Given the description of an element on the screen output the (x, y) to click on. 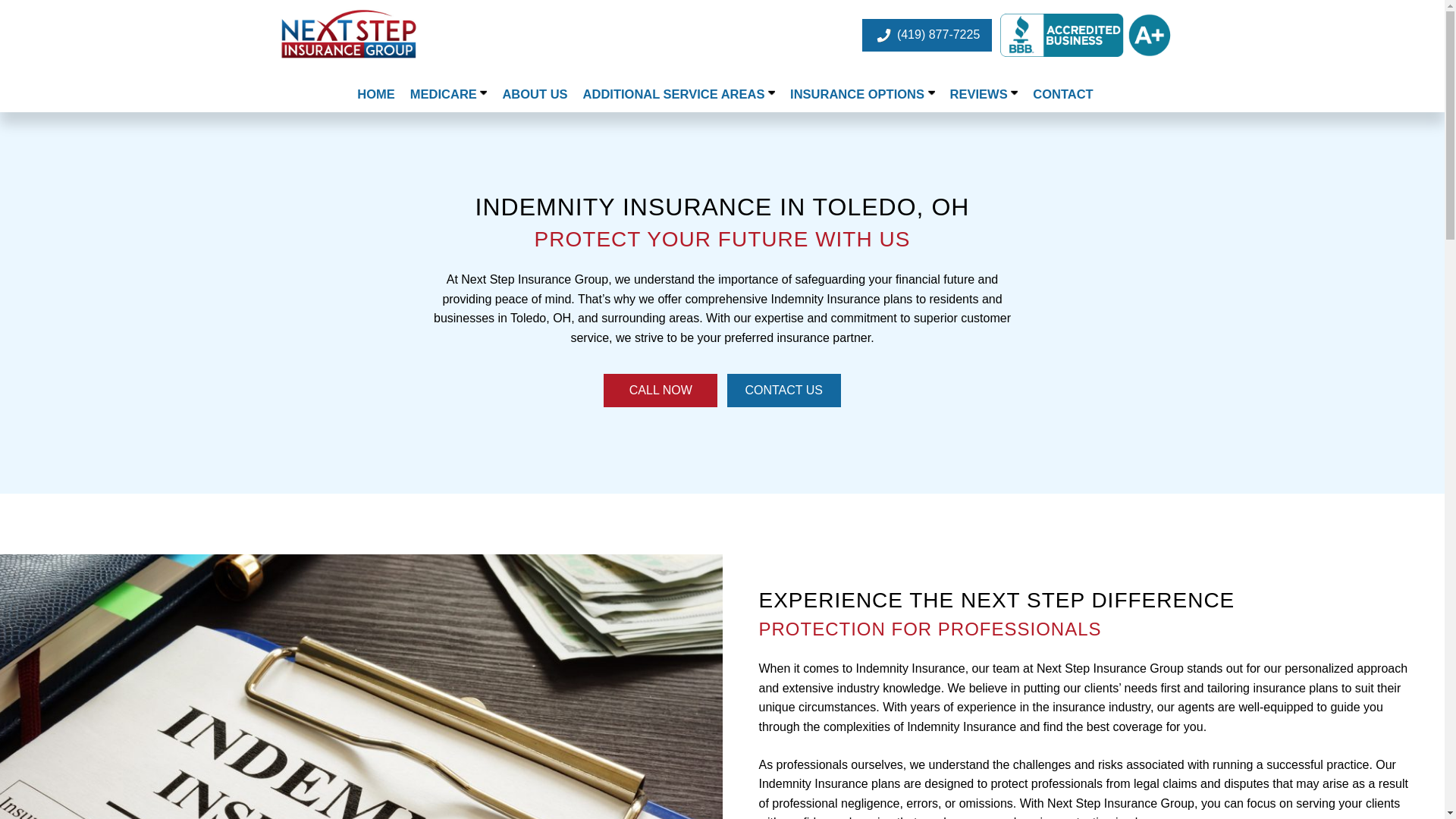
REVIEWS (984, 94)
ADDITIONAL SERVICE AREAS (678, 94)
Call Us (660, 390)
 Contact Us (783, 390)
ABOUT US (533, 94)
INSURANCE OPTIONS (862, 94)
MEDICARE (449, 94)
HOME (375, 94)
CONTACT (1062, 94)
